Given the description of an element on the screen output the (x, y) to click on. 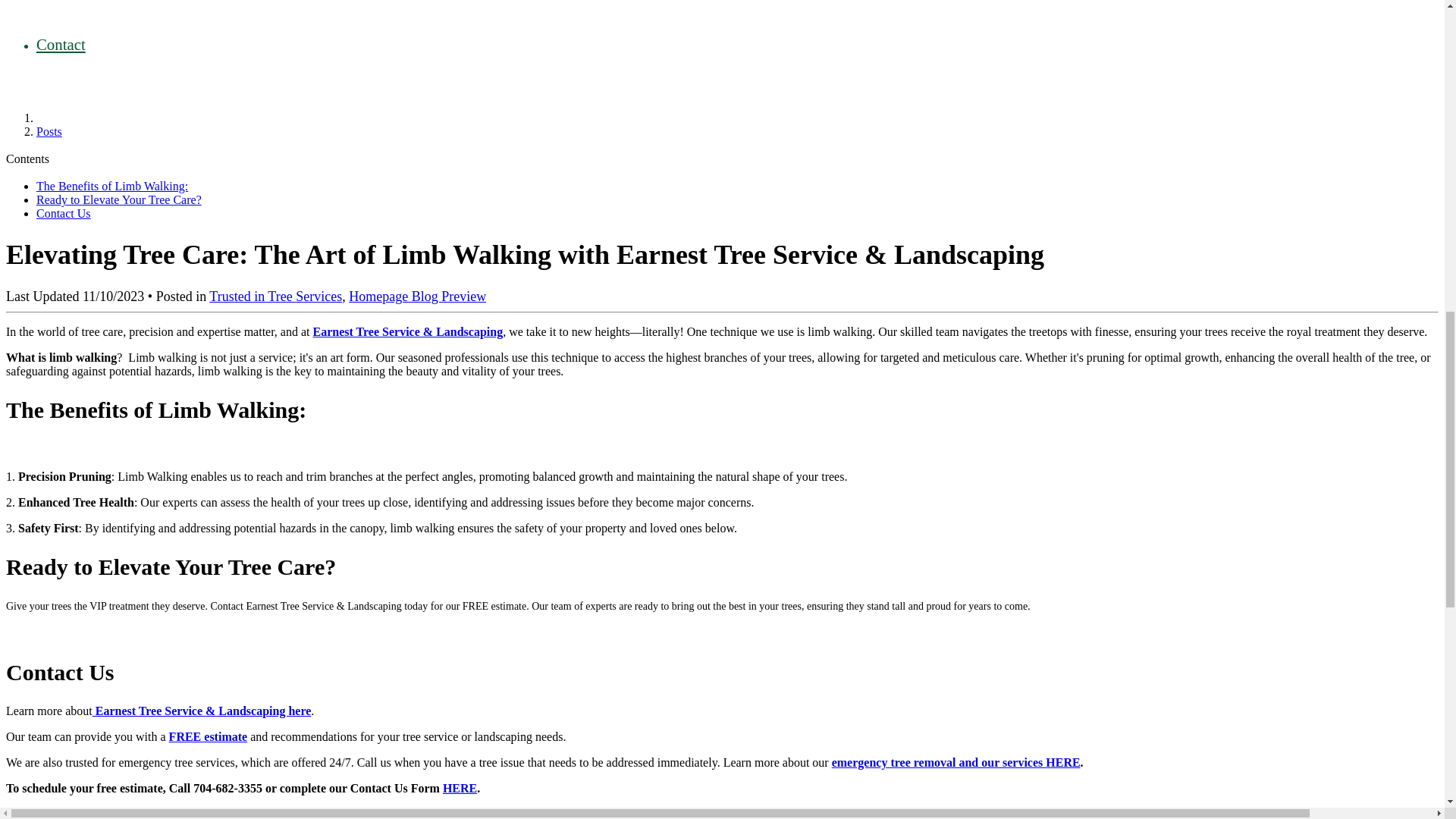
Contact (60, 44)
Contact Us (63, 213)
Homepage Blog Preview (417, 296)
FREE estimate (207, 736)
HERE (459, 788)
Contact Us (63, 213)
Ready to Elevate Your Tree Care? (119, 199)
Posts (49, 131)
The Benefits of Limb Walking: (111, 185)
HERE (1062, 762)
Ready to Elevate Your Tree Care? (119, 199)
emergency tree removal and our services  (938, 762)
The Benefits of Limb Walking: (111, 185)
Trusted in Tree Services (275, 296)
